Given the description of an element on the screen output the (x, y) to click on. 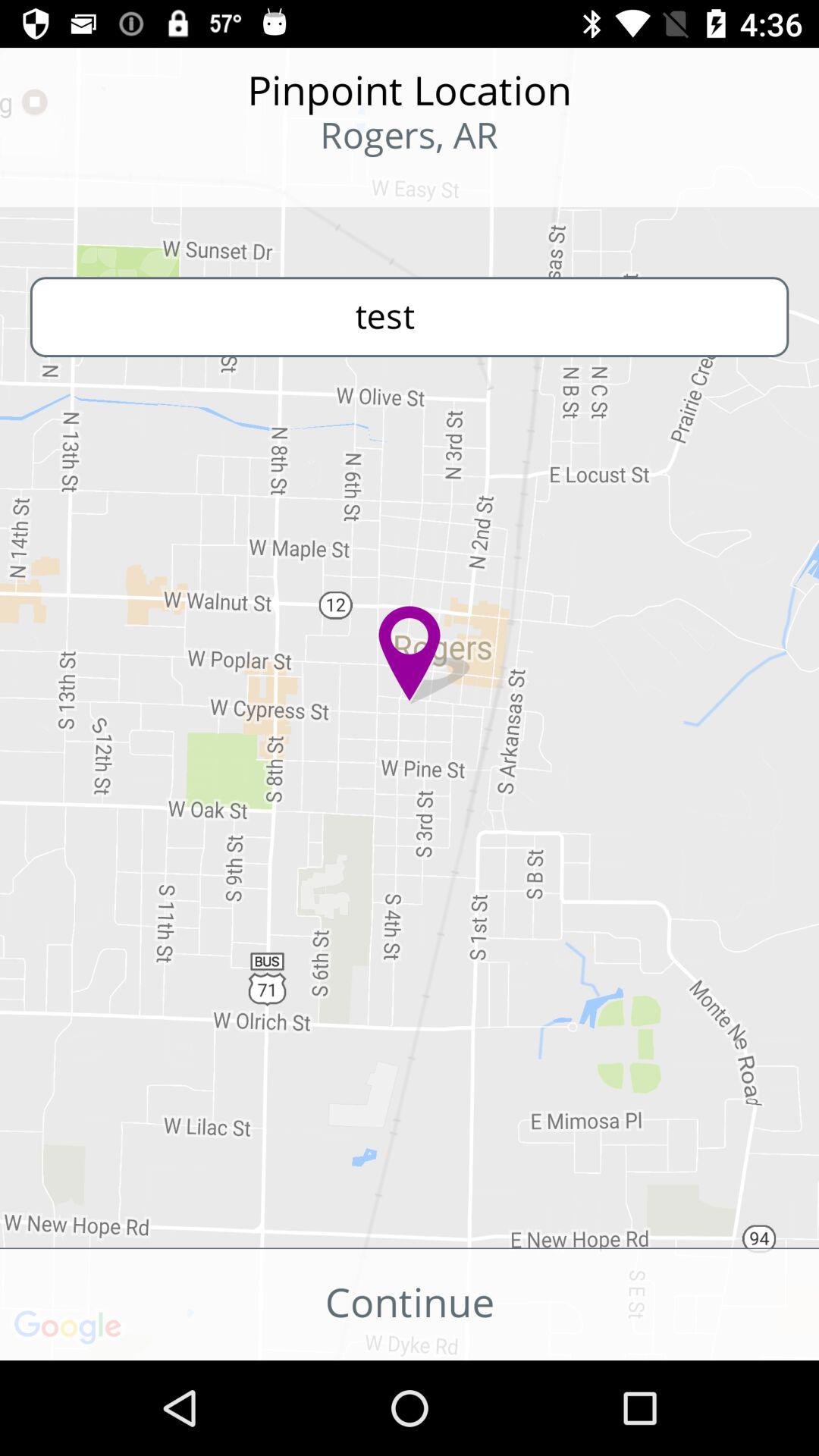
scroll until the test icon (409, 316)
